Given the description of an element on the screen output the (x, y) to click on. 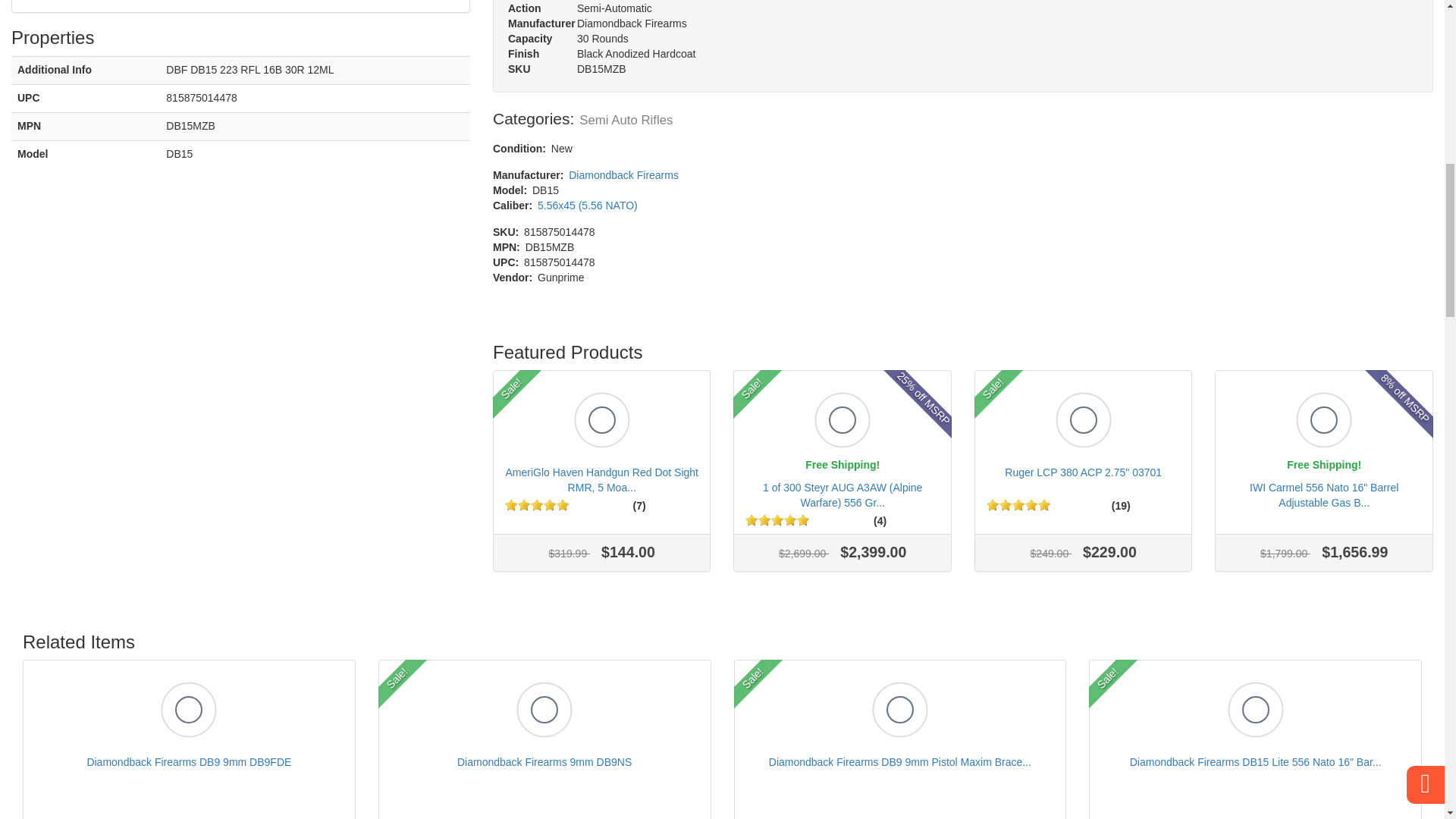
4 stars (549, 504)
4 stars (790, 520)
5 stars (802, 520)
Ruger LCP 380 ACP 2.75" 03701 (1083, 482)
2 stars (764, 520)
5 stars (562, 504)
3 stars (537, 504)
1 stars (992, 504)
1 stars (751, 520)
3 stars (777, 520)
2 stars (523, 504)
1 stars (510, 504)
